Given the description of an element on the screen output the (x, y) to click on. 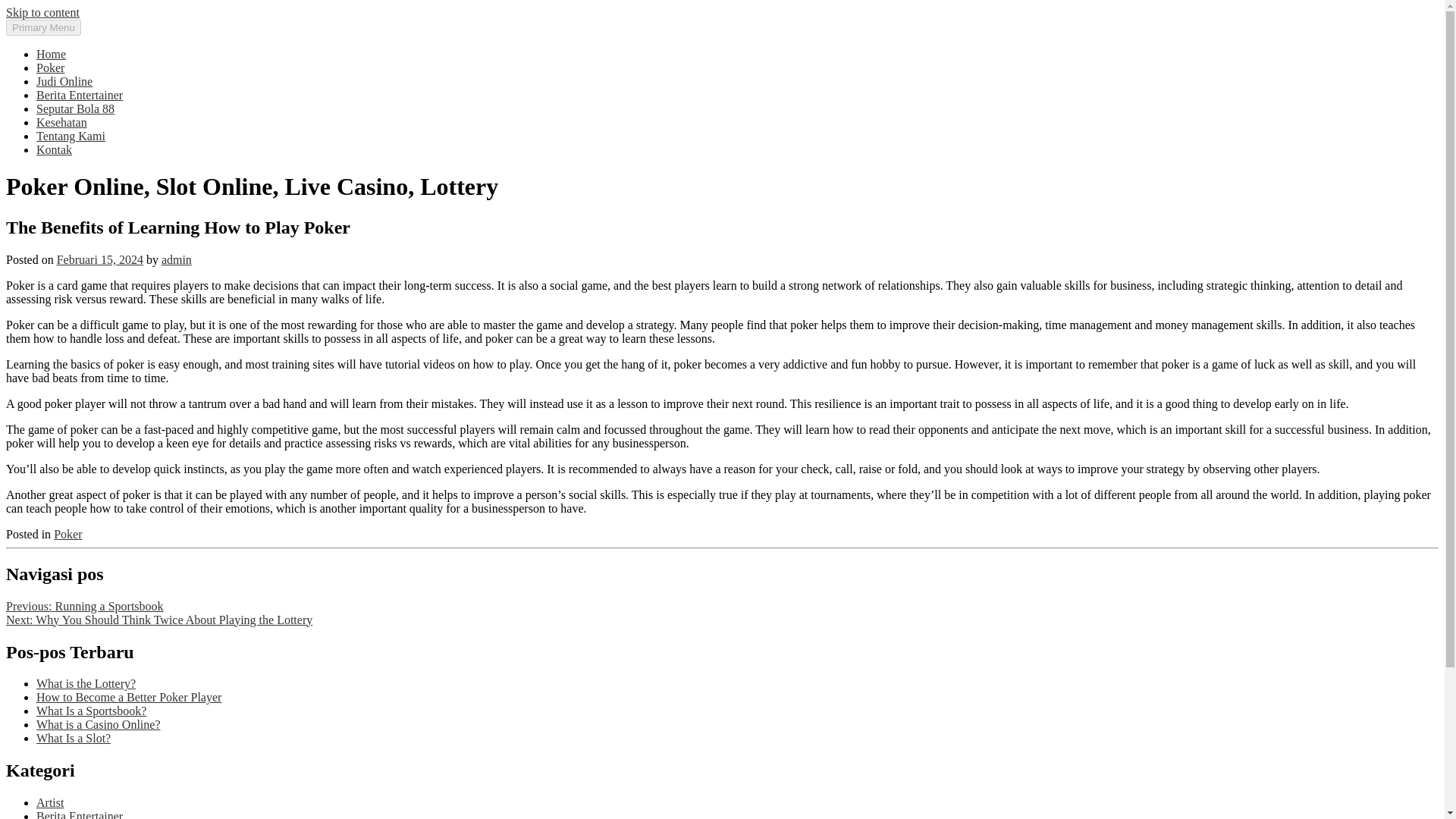
Next: Why You Should Think Twice About Playing the Lottery (159, 619)
Artist (50, 802)
Home (50, 53)
What Is a Slot? (73, 738)
Berita Entertainer (79, 94)
What is the Lottery? (85, 683)
Kesehatan (61, 122)
What Is a Sportsbook? (91, 710)
How to Become a Better Poker Player (128, 697)
Seputar Bola 88 (75, 108)
